Given the description of an element on the screen output the (x, y) to click on. 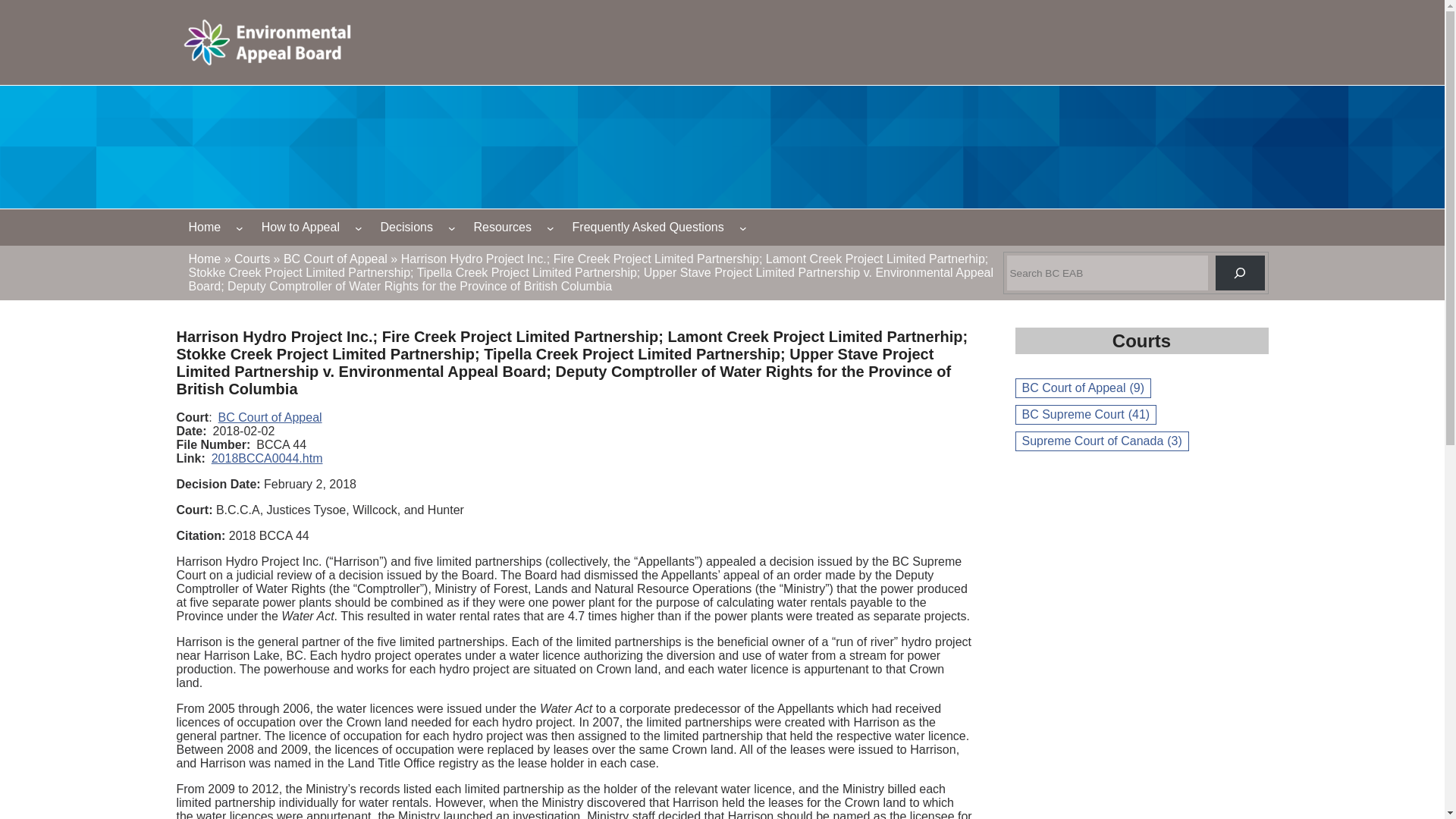
Home (204, 258)
Frequently Asked Questions (648, 227)
Home (204, 227)
Courts (251, 258)
BC Court of Appeal (269, 417)
2018BCCA0044.htm (267, 458)
How to Appeal (300, 227)
Decisions (406, 227)
Resources (502, 227)
BC Court of Appeal (335, 258)
